Given the description of an element on the screen output the (x, y) to click on. 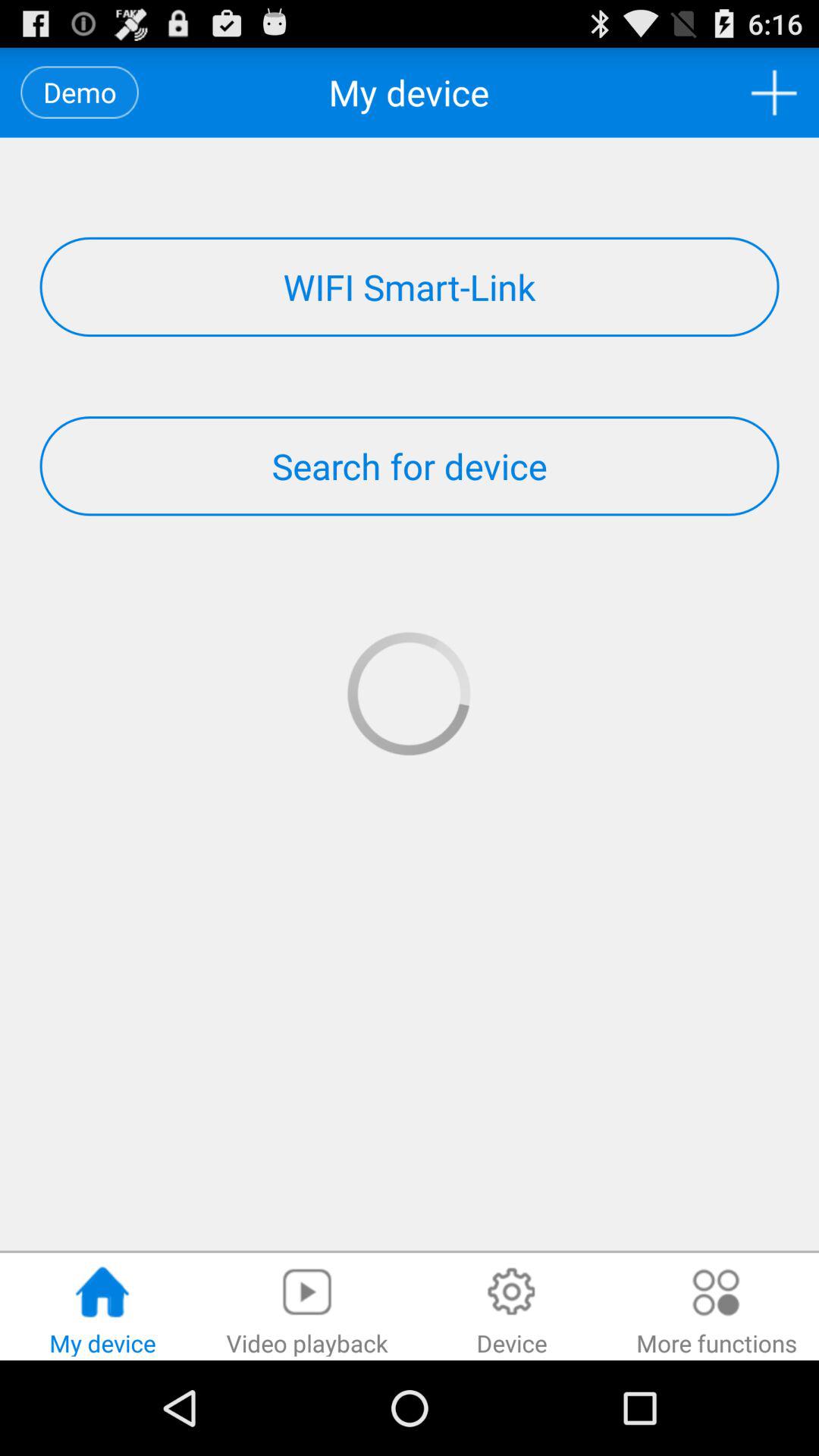
go to increase (774, 92)
